Given the description of an element on the screen output the (x, y) to click on. 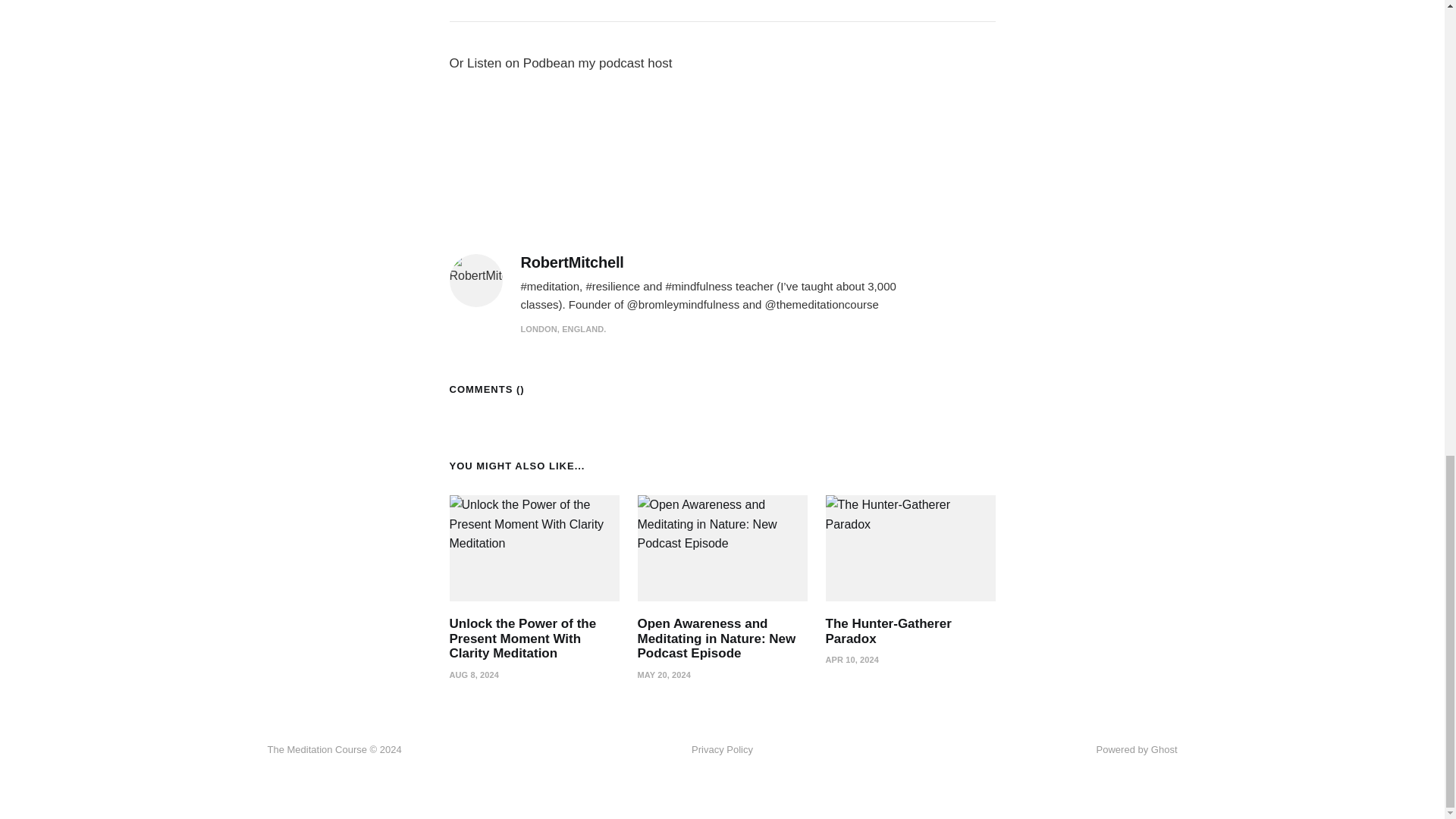
The Hunter-Gatherer Paradox (887, 631)
RobertMitchell (571, 262)
Open Awareness and Meditating in Nature: New Podcast Episode (715, 638)
Powered by Ghost (1136, 749)
Privacy Policy (721, 750)
